Given the description of an element on the screen output the (x, y) to click on. 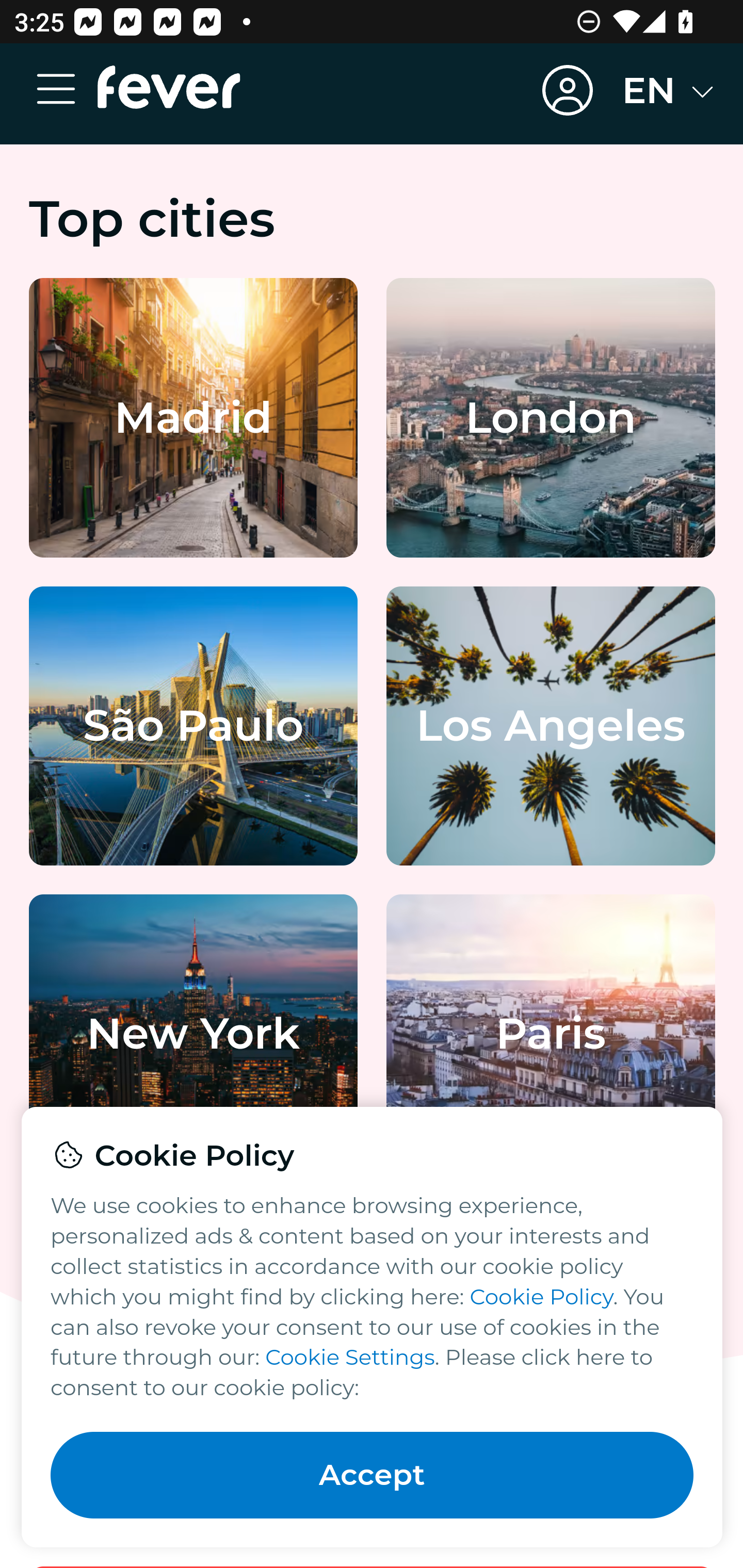
User account (567, 90)
Fever (169, 85)
Toggle navigation (63, 90)
EN (668, 90)
Madrid Madrid Madrid (193, 418)
London London London (551, 418)
São Paulo São Paulo São Paulo (193, 725)
Los Angeles Los Angeles Los Angeles (551, 725)
New York New York New York (193, 1033)
Paris Paris Paris (551, 1033)
Cookie Policy (541, 1295)
Cookie Settings (348, 1356)
Accept (372, 1475)
